Given the description of an element on the screen output the (x, y) to click on. 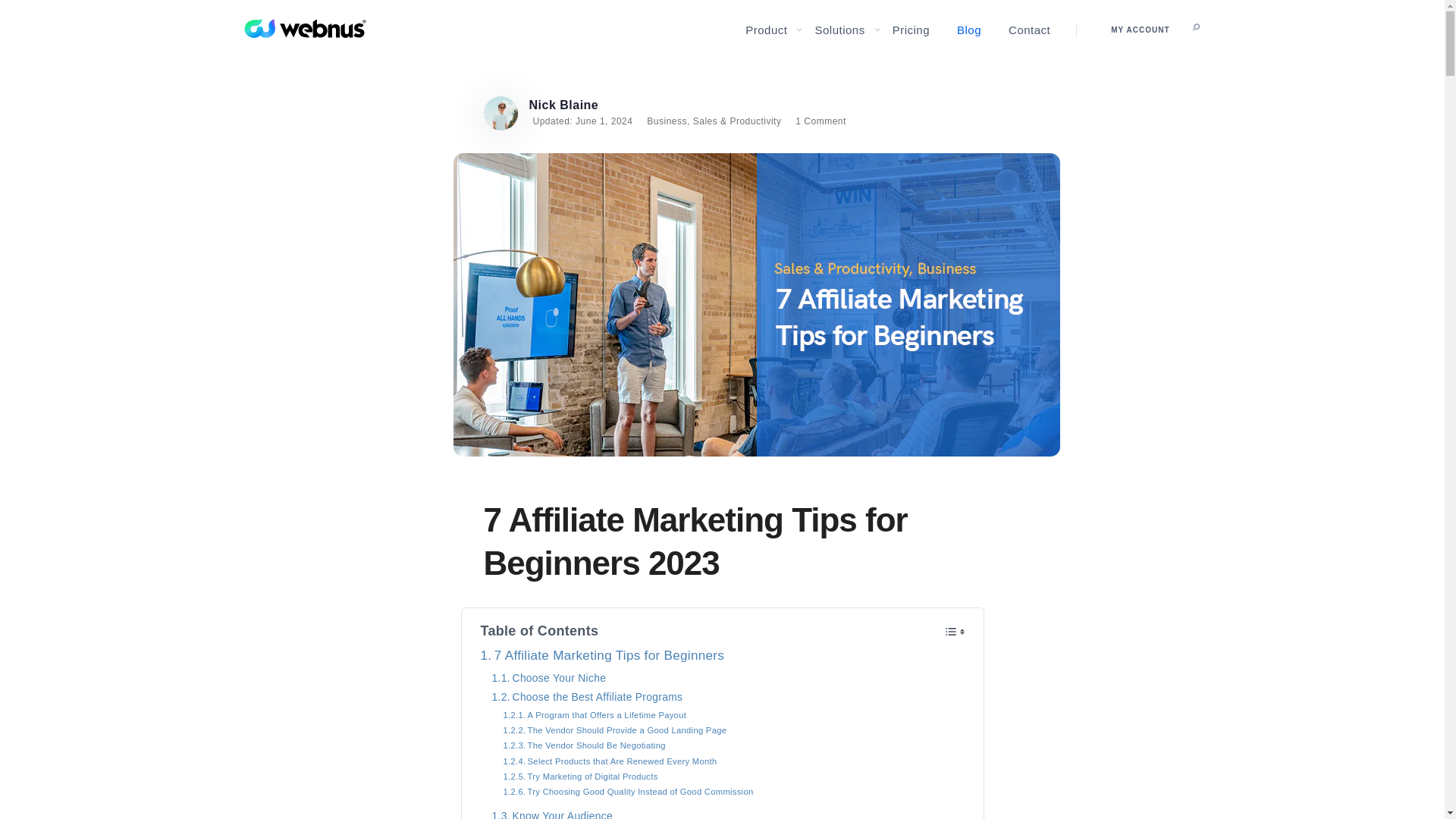
Nick Blaine (563, 104)
Know Your Audience (551, 812)
Try Choosing Good Quality Instead of Good Commission (628, 791)
Know Your Audience (551, 812)
Select Products that Are Renewed Every Month (610, 761)
Try Choosing Good Quality Instead of Good Commission (628, 791)
The Vendor Should Provide a Good Landing Page (614, 729)
7 Affiliate Marketing Tips for Beginners (602, 656)
Try Marketing of Digital Products (580, 776)
The Vendor Should Be Negotiating (584, 744)
Try Marketing of Digital Products (580, 776)
The Vendor Should Provide a Good Landing Page (614, 729)
Business (666, 121)
Choose Your Niche (548, 678)
A Program that Offers a Lifetime Payout (595, 714)
